Given the description of an element on the screen output the (x, y) to click on. 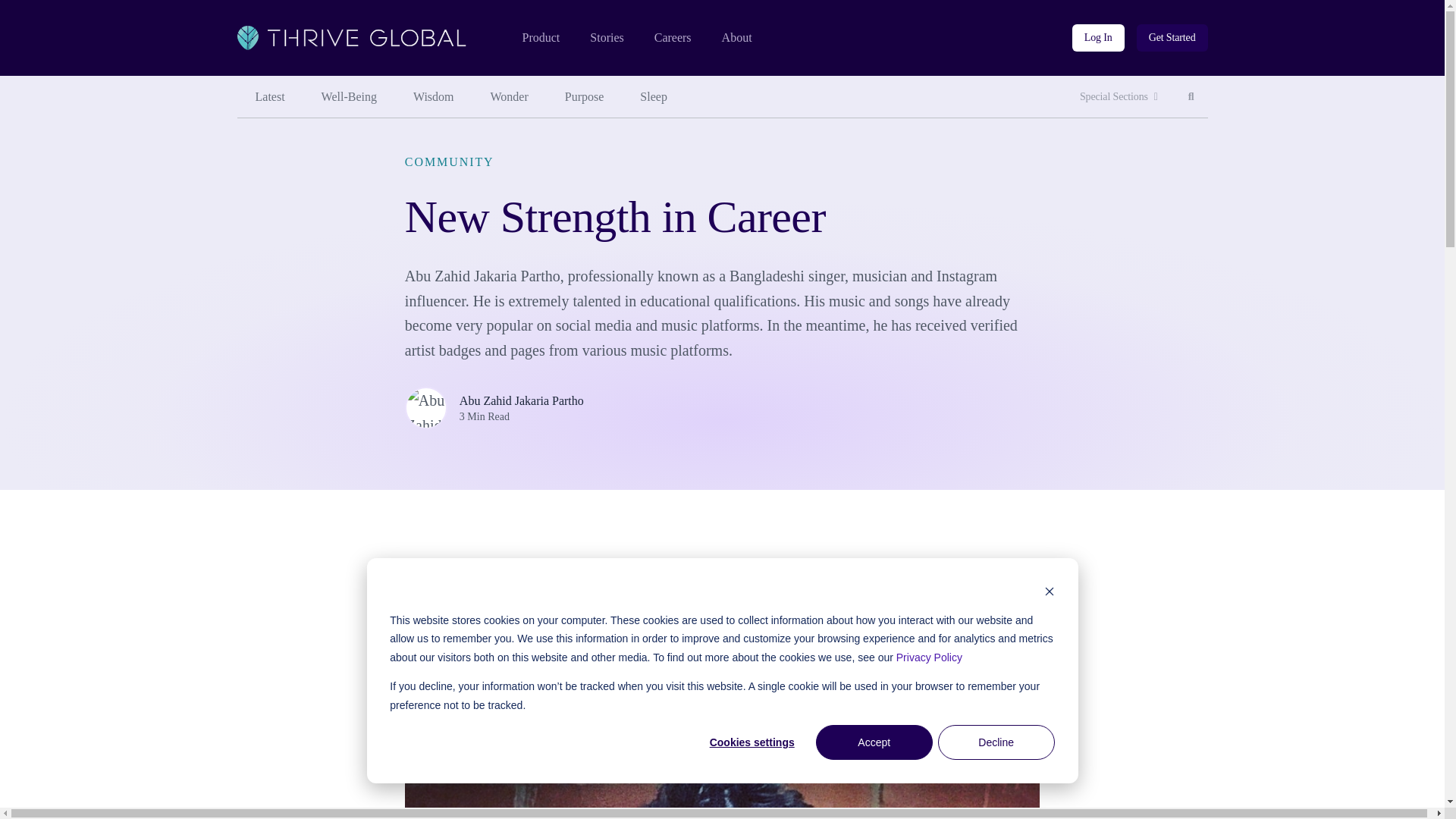
Wisdom (432, 96)
Stories (606, 37)
Special Sections (1118, 97)
Wonder (509, 96)
Well-Being (1191, 97)
Log In (348, 96)
Latest (1097, 37)
Sleep (268, 96)
Careers (653, 96)
Get Started (672, 37)
Product (1172, 37)
About (540, 37)
Purpose (737, 37)
